Given the description of an element on the screen output the (x, y) to click on. 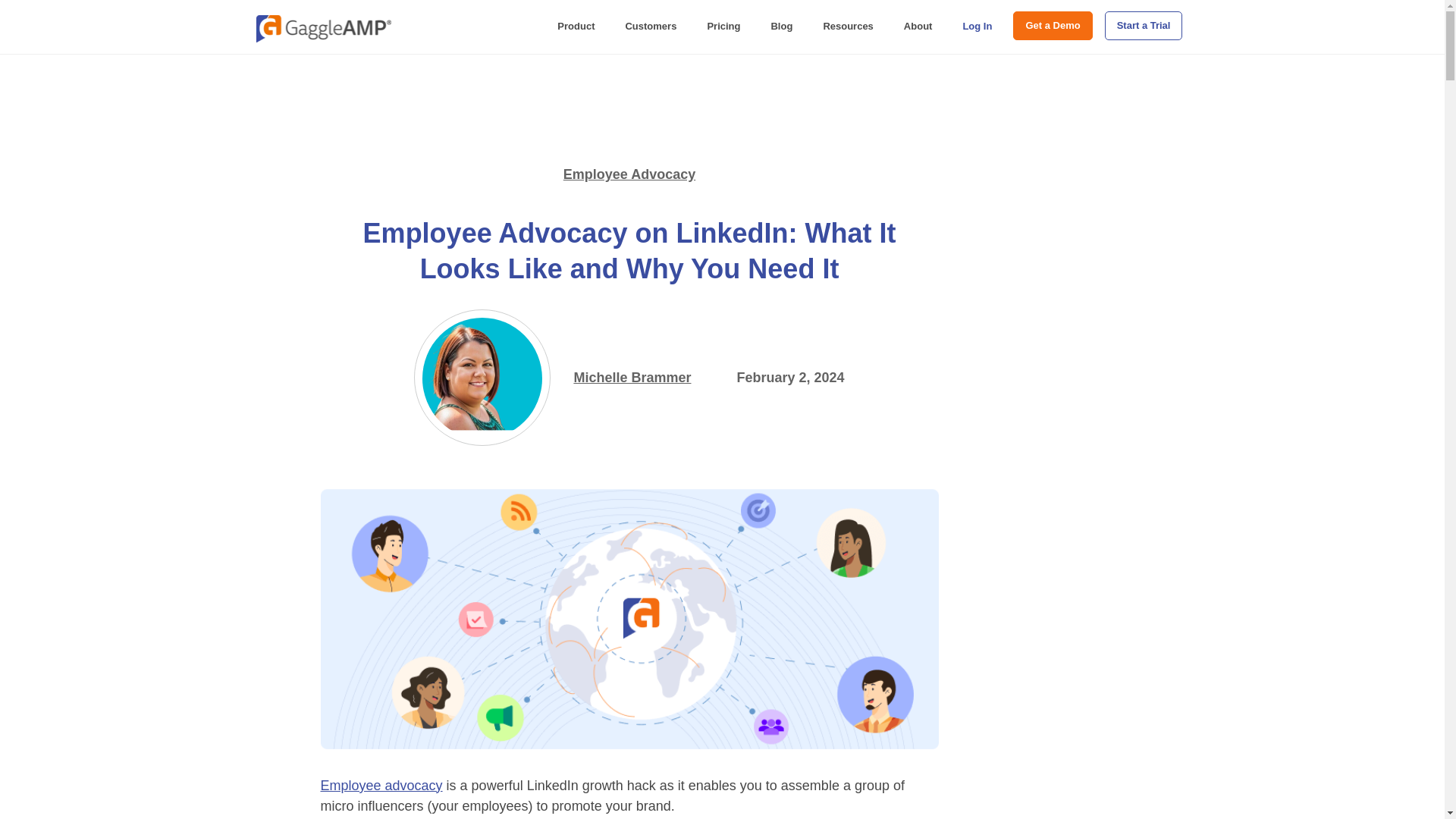
Pricing (723, 26)
Employee Advocacy (629, 174)
Blog (781, 26)
Product (575, 26)
Log In (977, 26)
Employee advocacy (381, 785)
Get a Demo (1052, 25)
Logo (323, 28)
Michelle Brammer (631, 377)
